Given the description of an element on the screen output the (x, y) to click on. 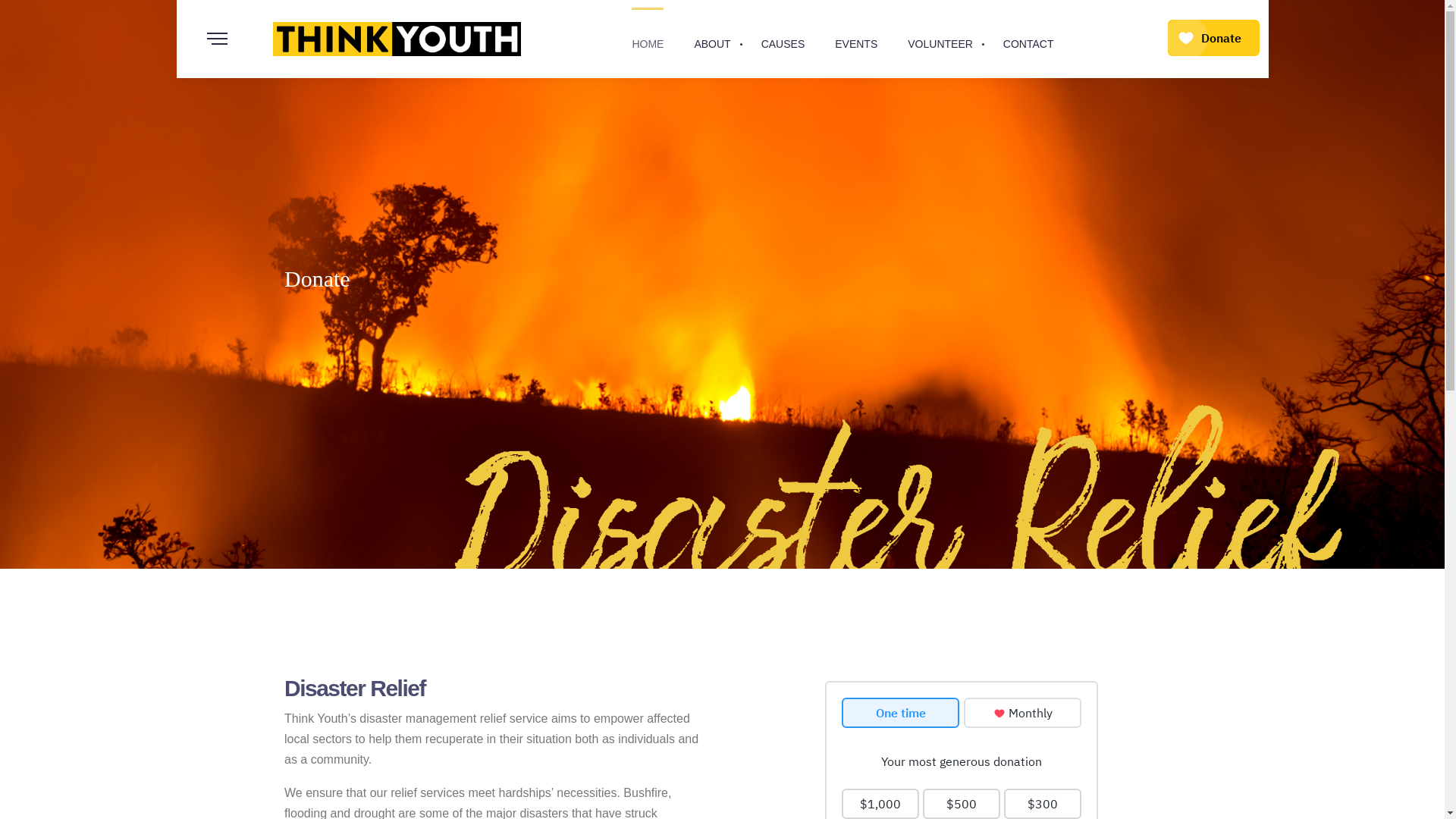
EVENTS Element type: text (855, 39)
VOLUNTEER Element type: text (939, 39)
CONTACT Element type: text (1028, 39)
ABOUT Element type: text (711, 39)
HOME Element type: text (647, 39)
Donate Button Element type: hover (1213, 38)
CAUSES Element type: text (783, 39)
